Given the description of an element on the screen output the (x, y) to click on. 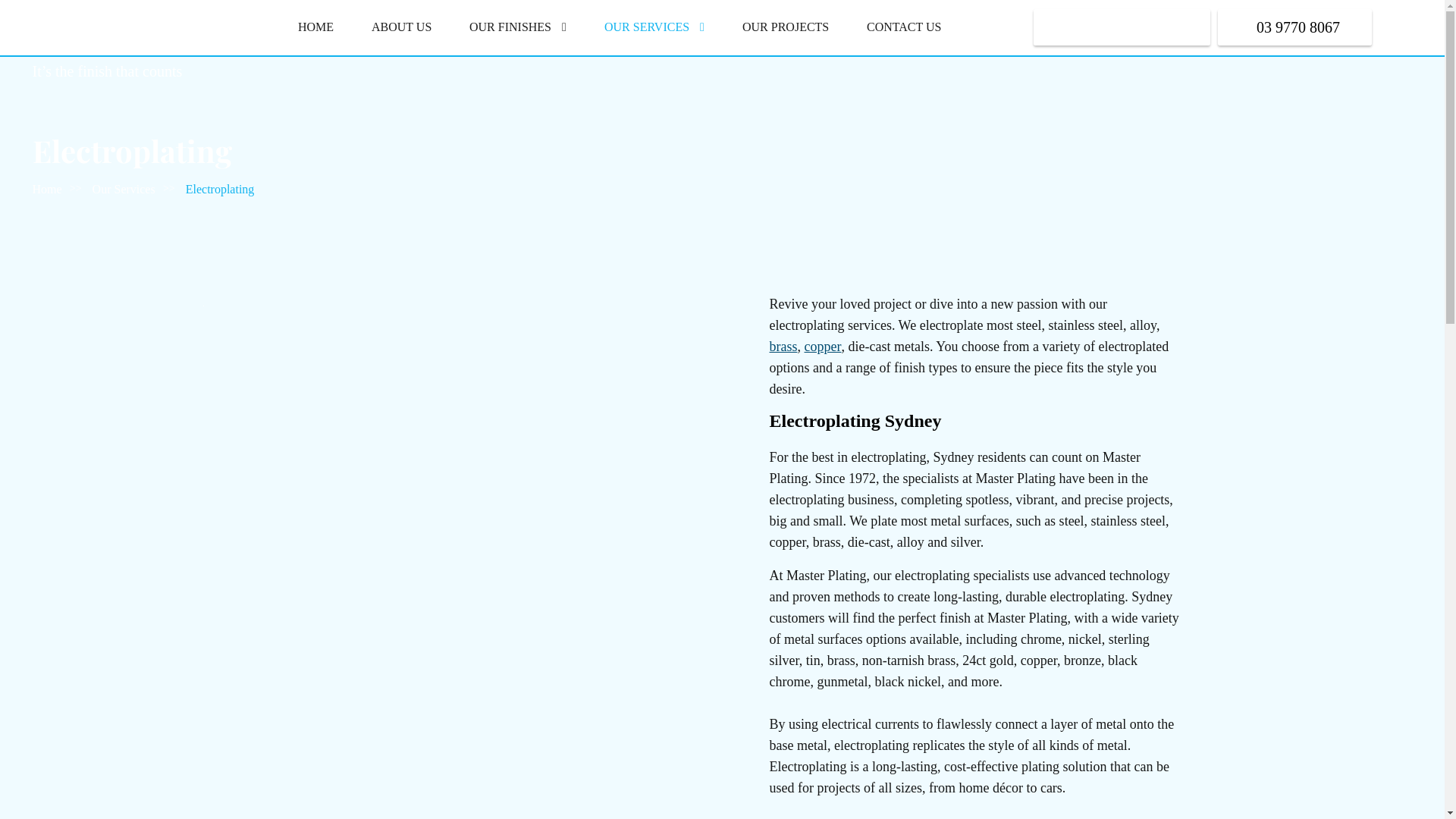
brass Element type: text (782, 346)
copper Element type: text (821, 346)
CONTACT US Element type: text (903, 27)
HOME Element type: text (315, 27)
Home Element type: text (46, 188)
OUR SERVICES Element type: text (654, 27)
Get A Free Quote Element type: text (1121, 27)
OUR FINISHES Element type: text (517, 27)
03 9770 8067 Element type: text (1294, 27)
Our Services Element type: text (123, 188)
ABOUT US Element type: text (401, 27)
OUR PROJECTS Element type: text (785, 27)
